Given the description of an element on the screen output the (x, y) to click on. 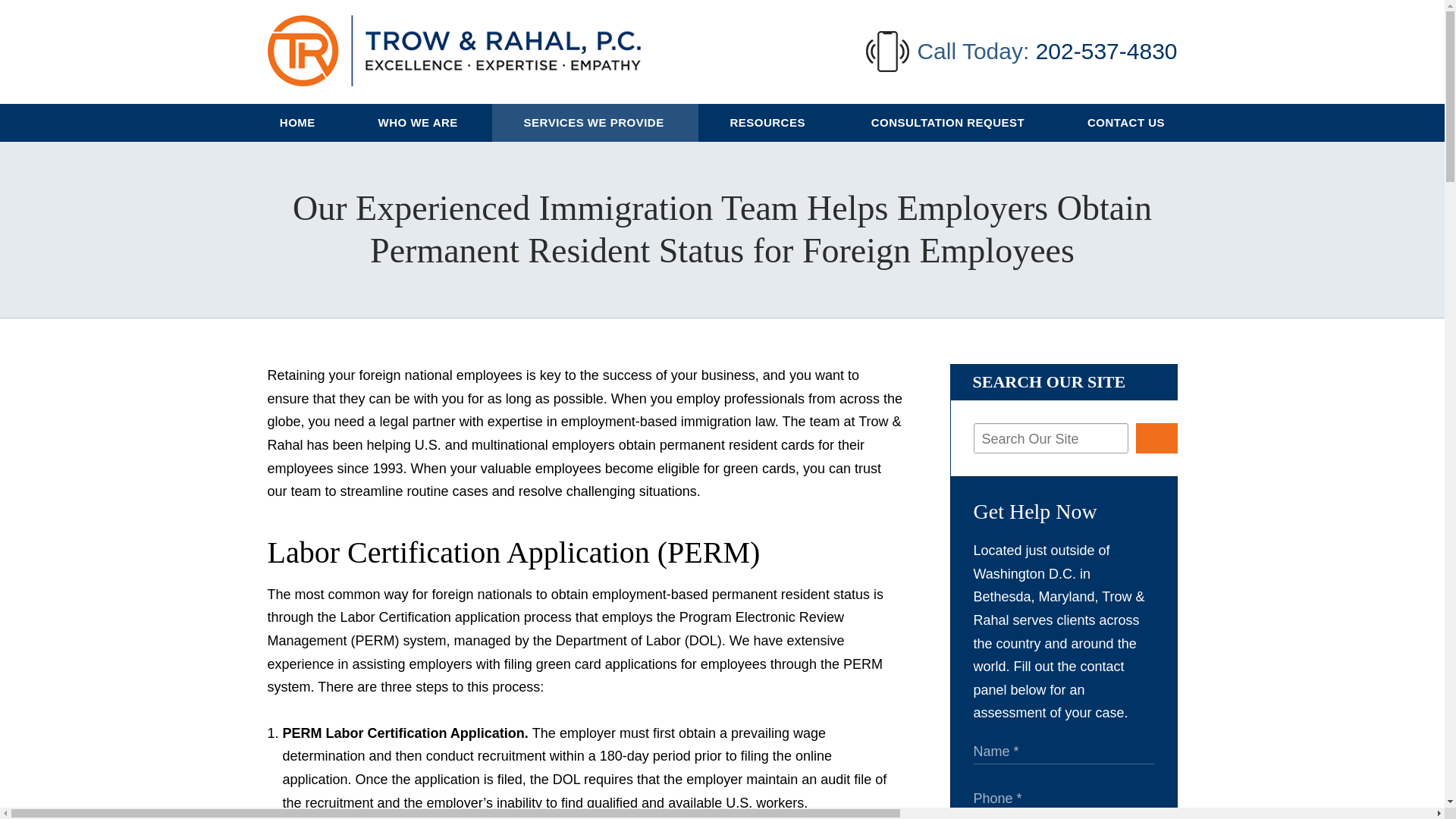
CONSULTATION REQUEST (947, 123)
HOME (297, 123)
Search (1156, 438)
WHO WE ARE (419, 123)
SERVICES WE PROVIDE (595, 123)
RESOURCES (769, 123)
CONTACT US (1126, 123)
